Given the description of an element on the screen output the (x, y) to click on. 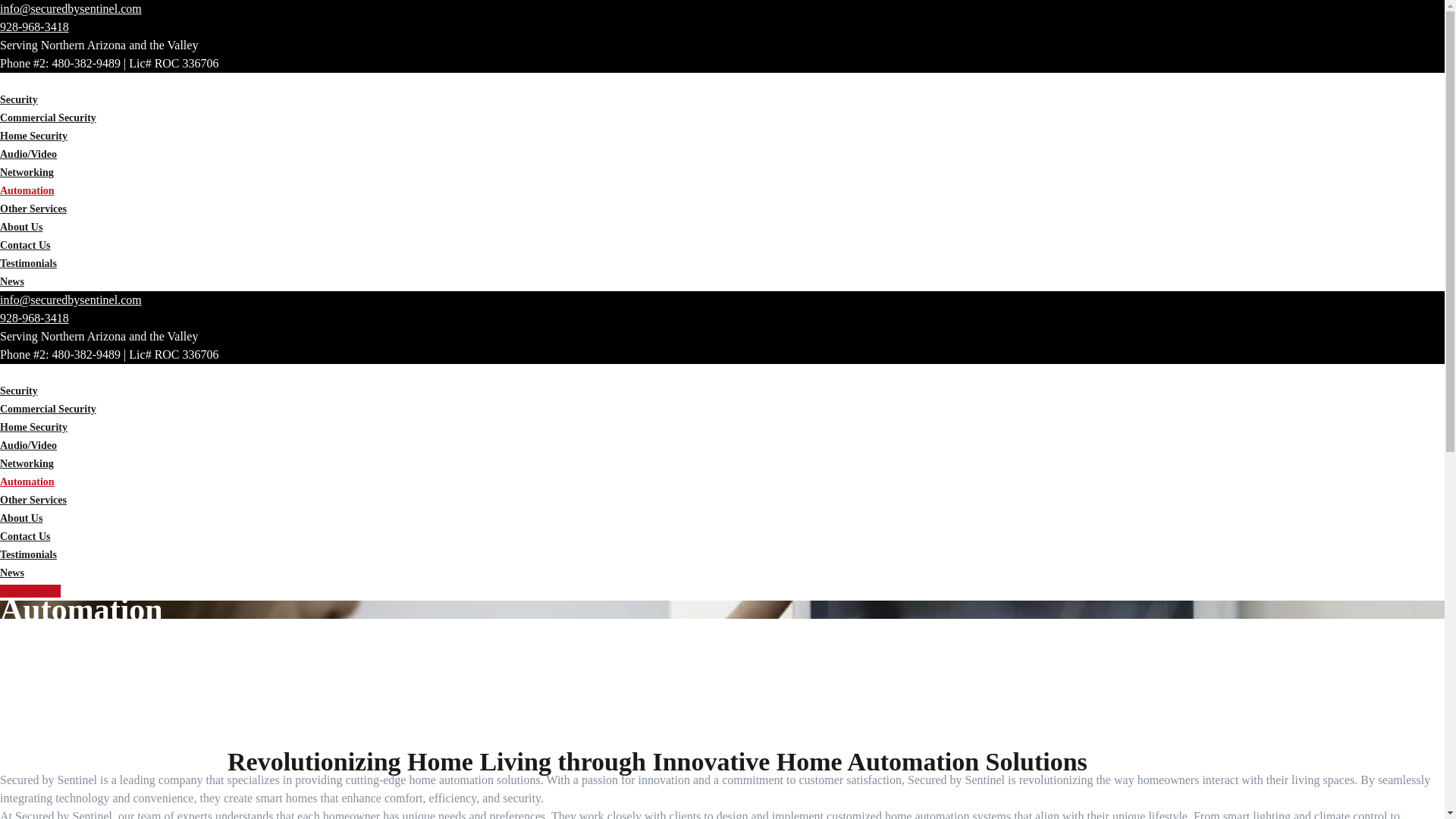
Contact Us (25, 536)
News (12, 572)
Security (18, 390)
Testimonials (28, 263)
Testimonials (28, 554)
Automation (27, 190)
Networking (26, 463)
News (12, 281)
About Us (21, 518)
Other Services (33, 500)
